Given the description of an element on the screen output the (x, y) to click on. 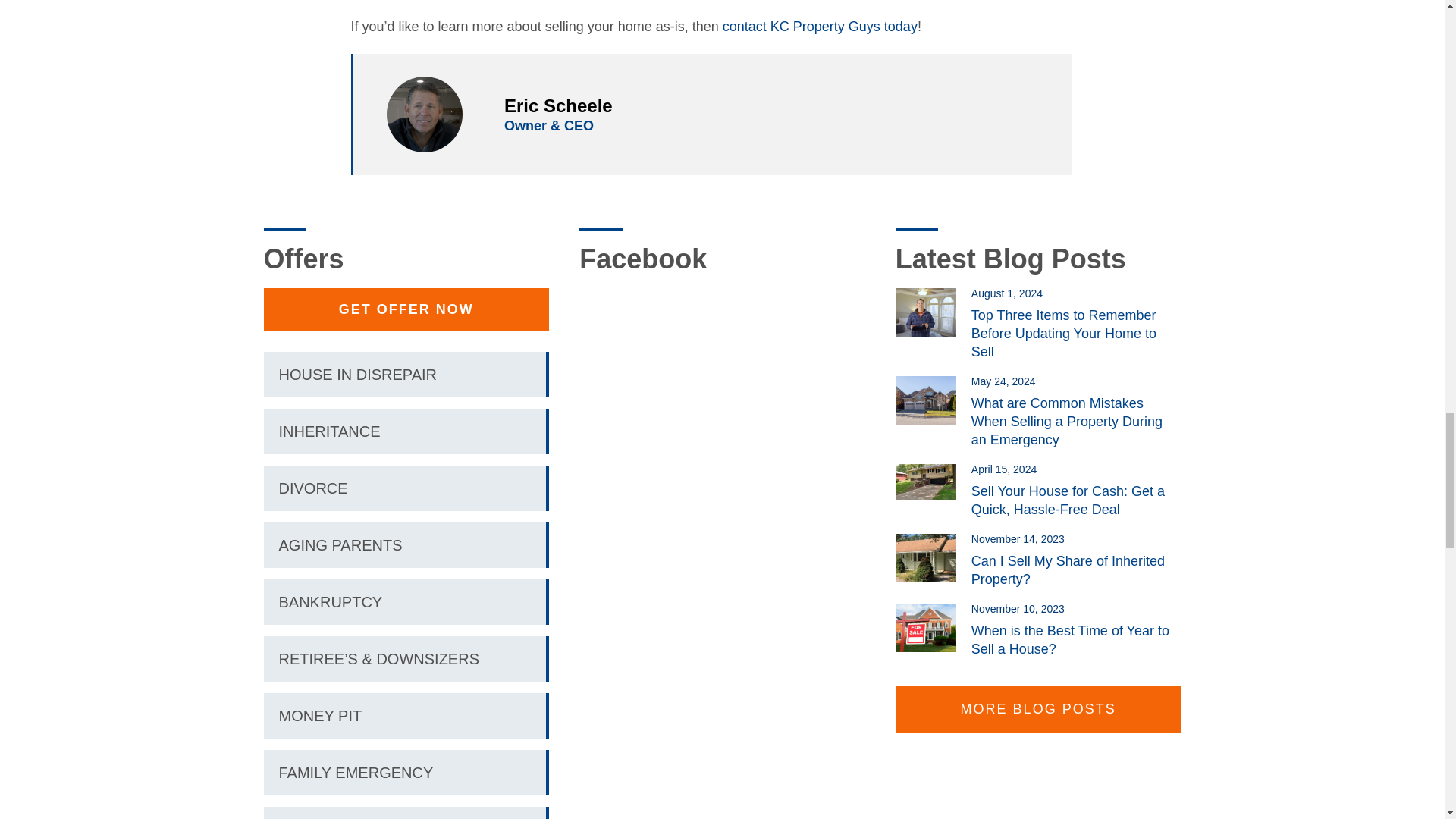
When is the Best Time of Year to Sell a House? (933, 627)
Can I Sell My Share of Inherited Property? (933, 557)
Sell Your House for Cash: Get a Quick, Hassle-Free Deal (933, 481)
